Given the description of an element on the screen output the (x, y) to click on. 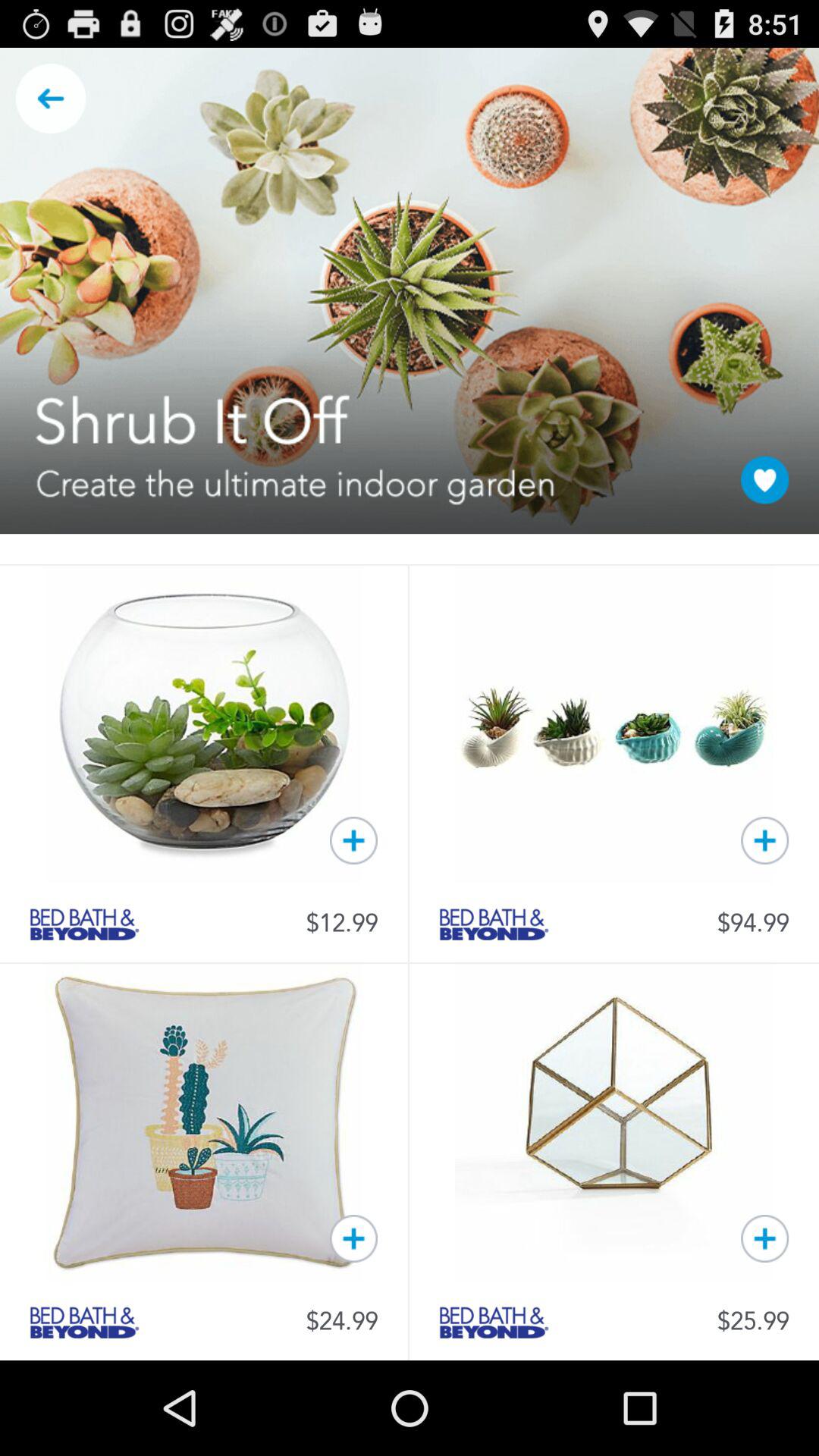
add to cart (353, 840)
